Given the description of an element on the screen output the (x, y) to click on. 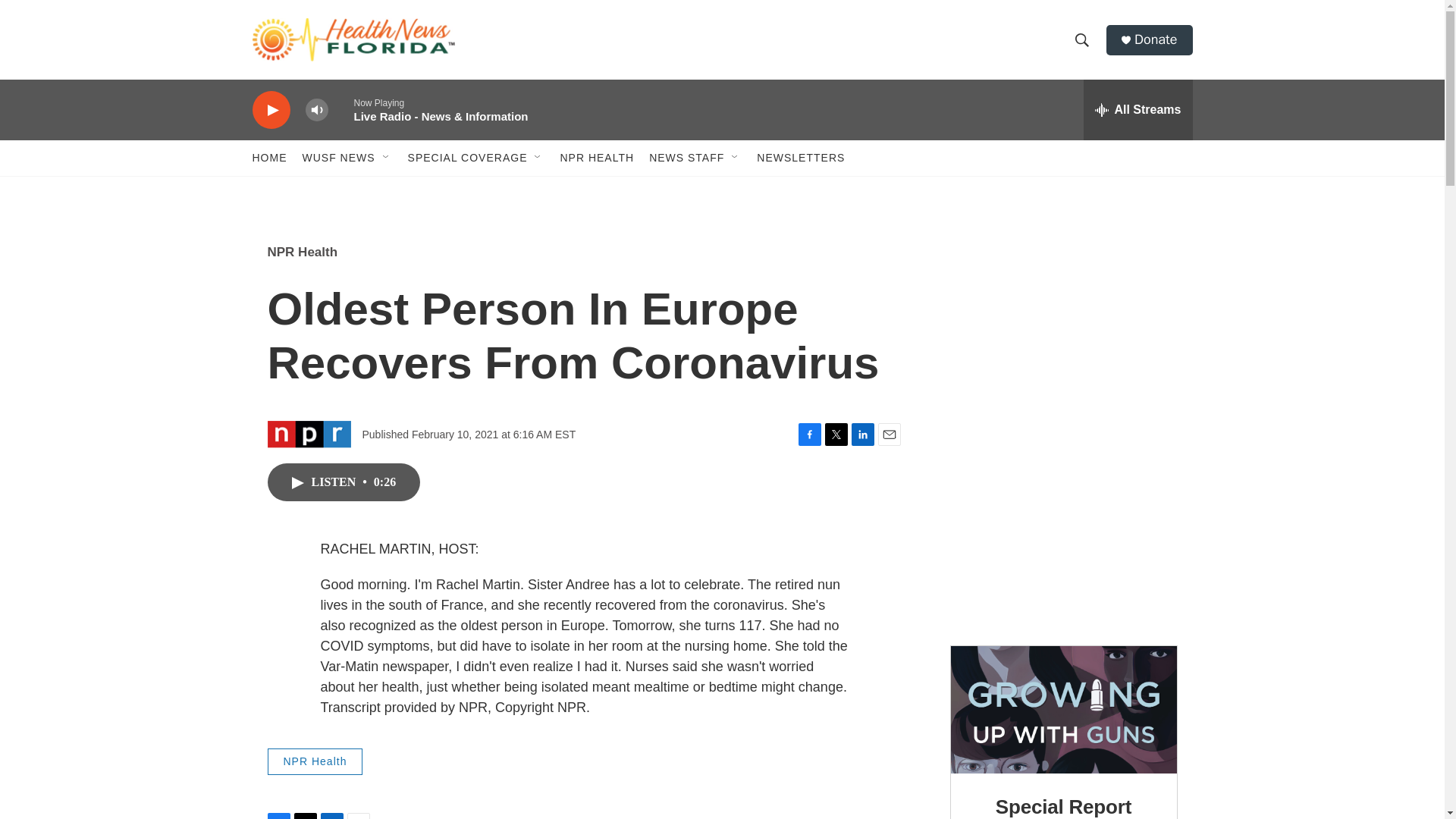
3rd party ad content (1063, 536)
3rd party ad content (1062, 331)
